Given the description of an element on the screen output the (x, y) to click on. 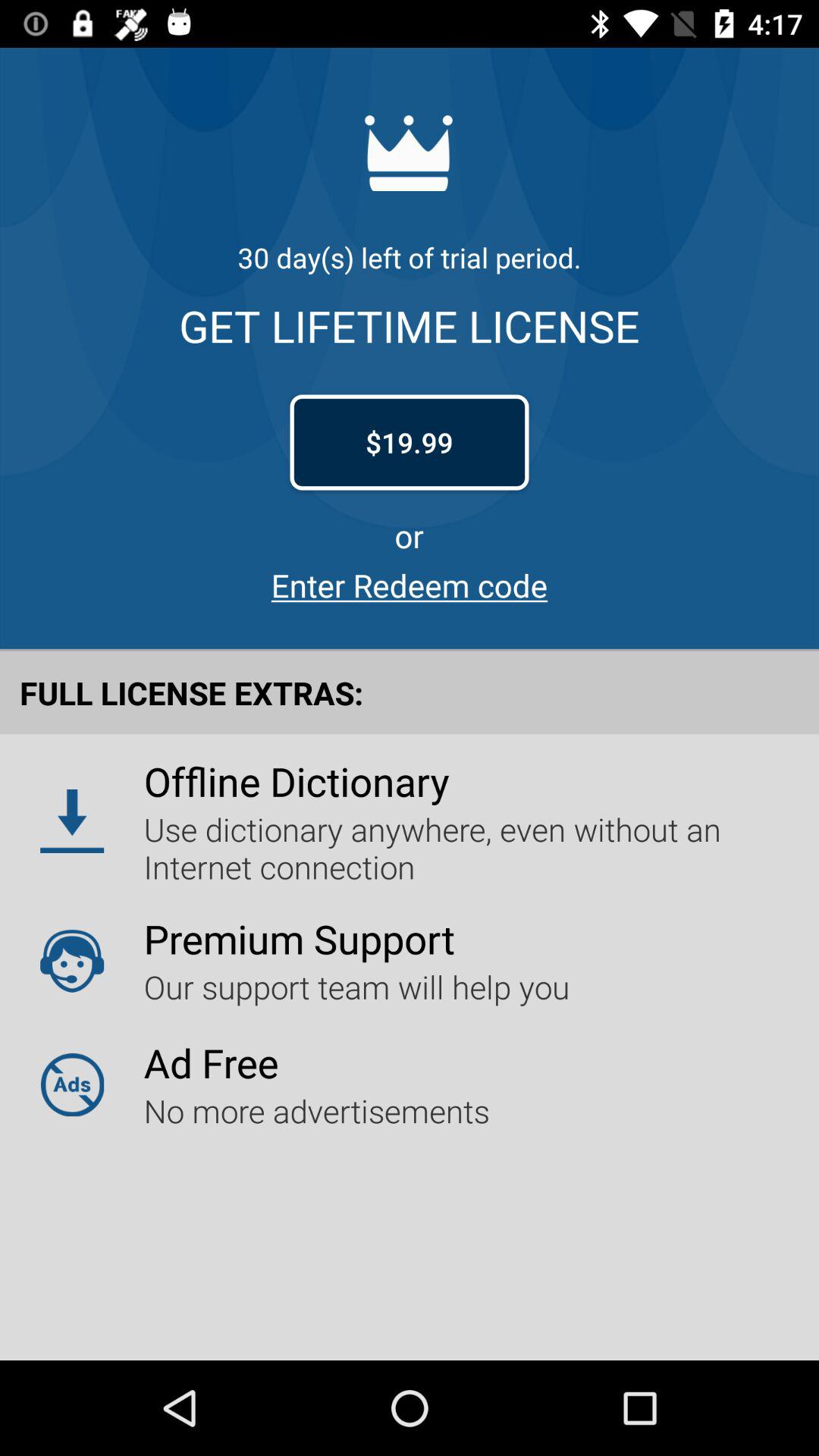
choose the enter redeem code icon (409, 584)
